Given the description of an element on the screen output the (x, y) to click on. 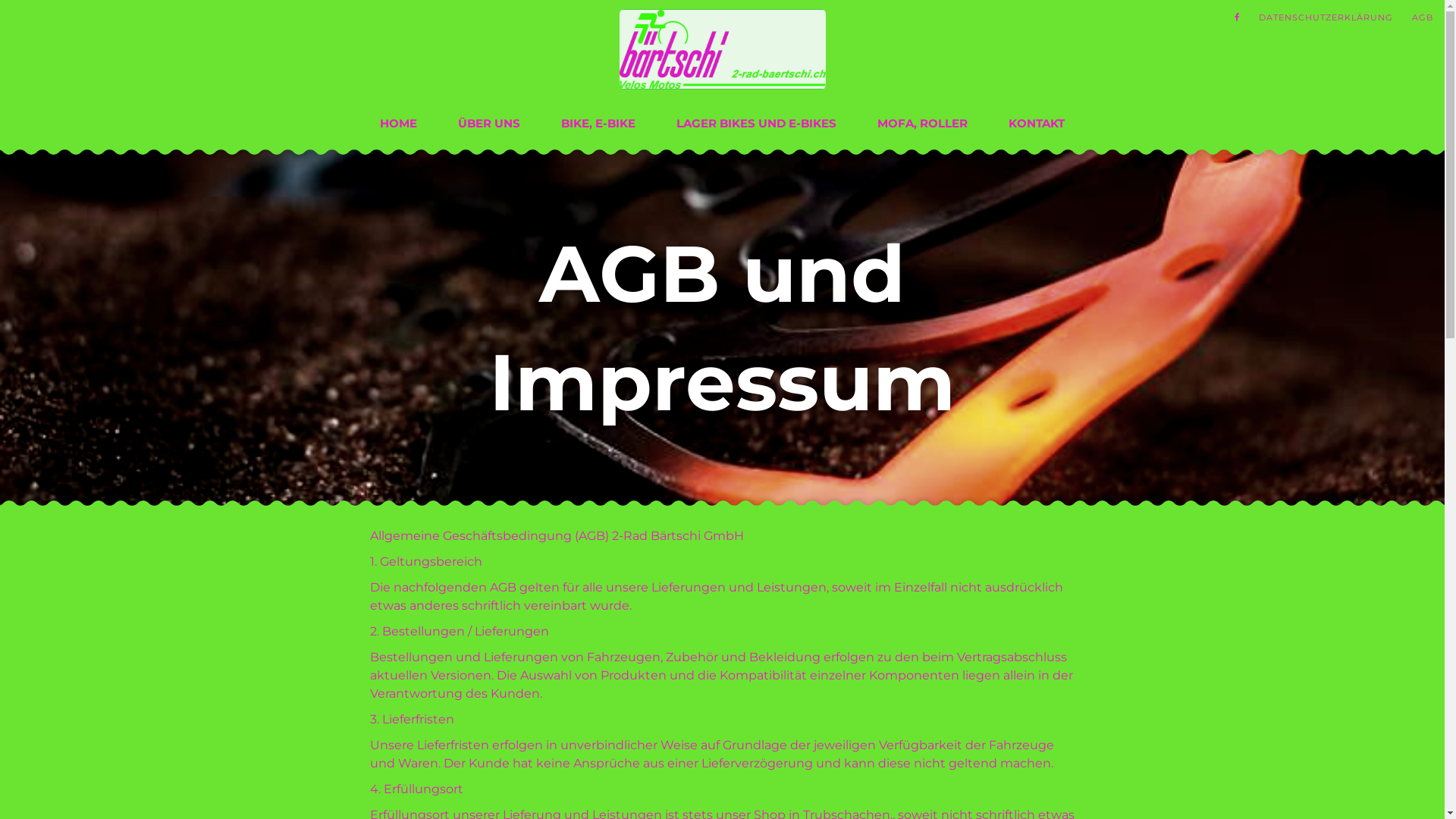
HOME Element type: text (398, 122)
LAGER BIKES UND E-BIKES Element type: text (756, 122)
BIKE, E-BIKE Element type: text (598, 122)
MOFA, ROLLER Element type: text (922, 122)
KONTAKT Element type: text (1036, 122)
AGB Element type: text (1422, 17)
